Given the description of an element on the screen output the (x, y) to click on. 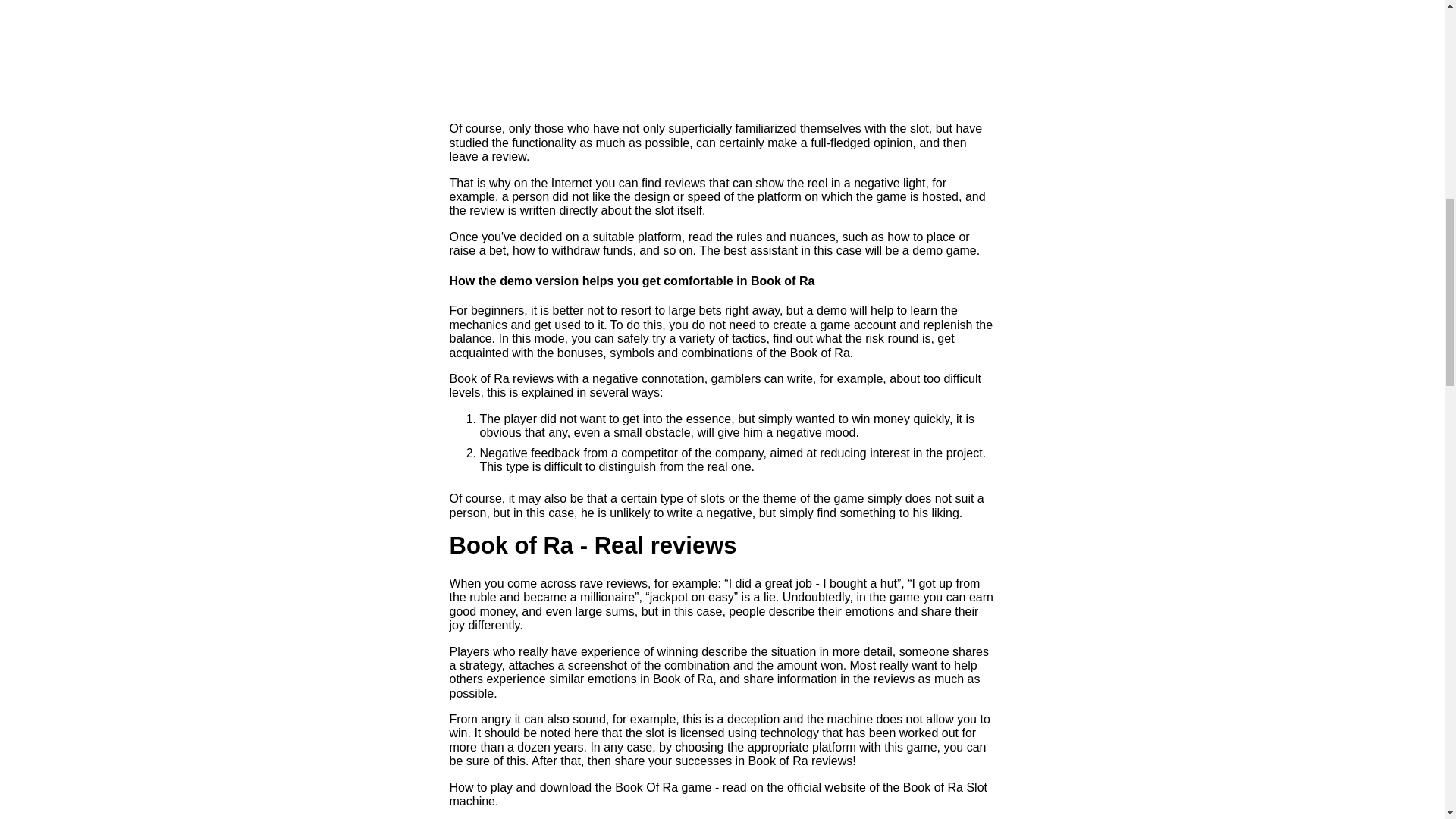
download (566, 787)
real reviews Book of Ra (721, 52)
Book of Ra how to play pin-up (480, 787)
official website (826, 787)
download slot Book of Ra (566, 787)
How to play (480, 787)
